Given the description of an element on the screen output the (x, y) to click on. 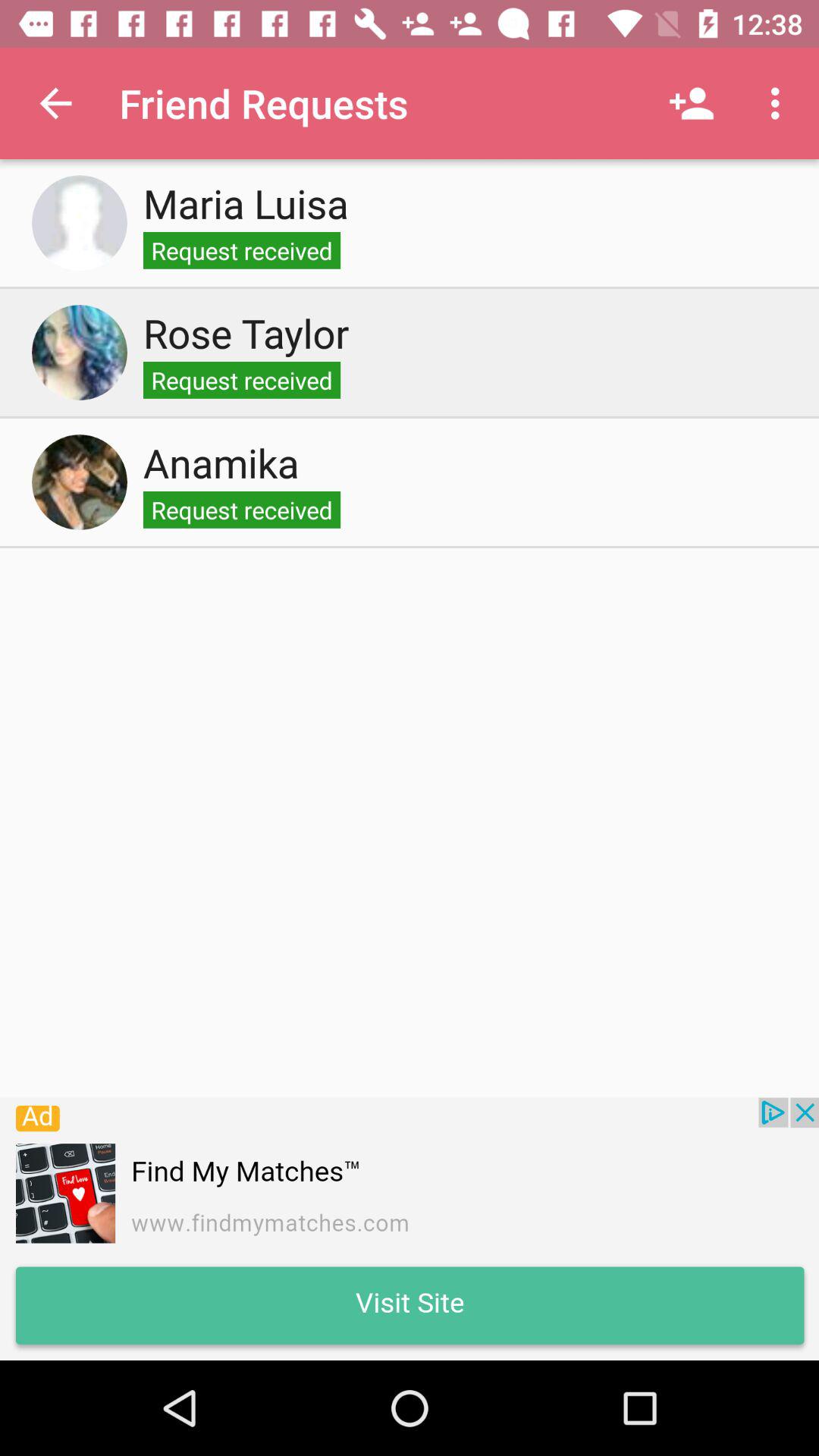
to see the rose taylor profile (79, 352)
